Given the description of an element on the screen output the (x, y) to click on. 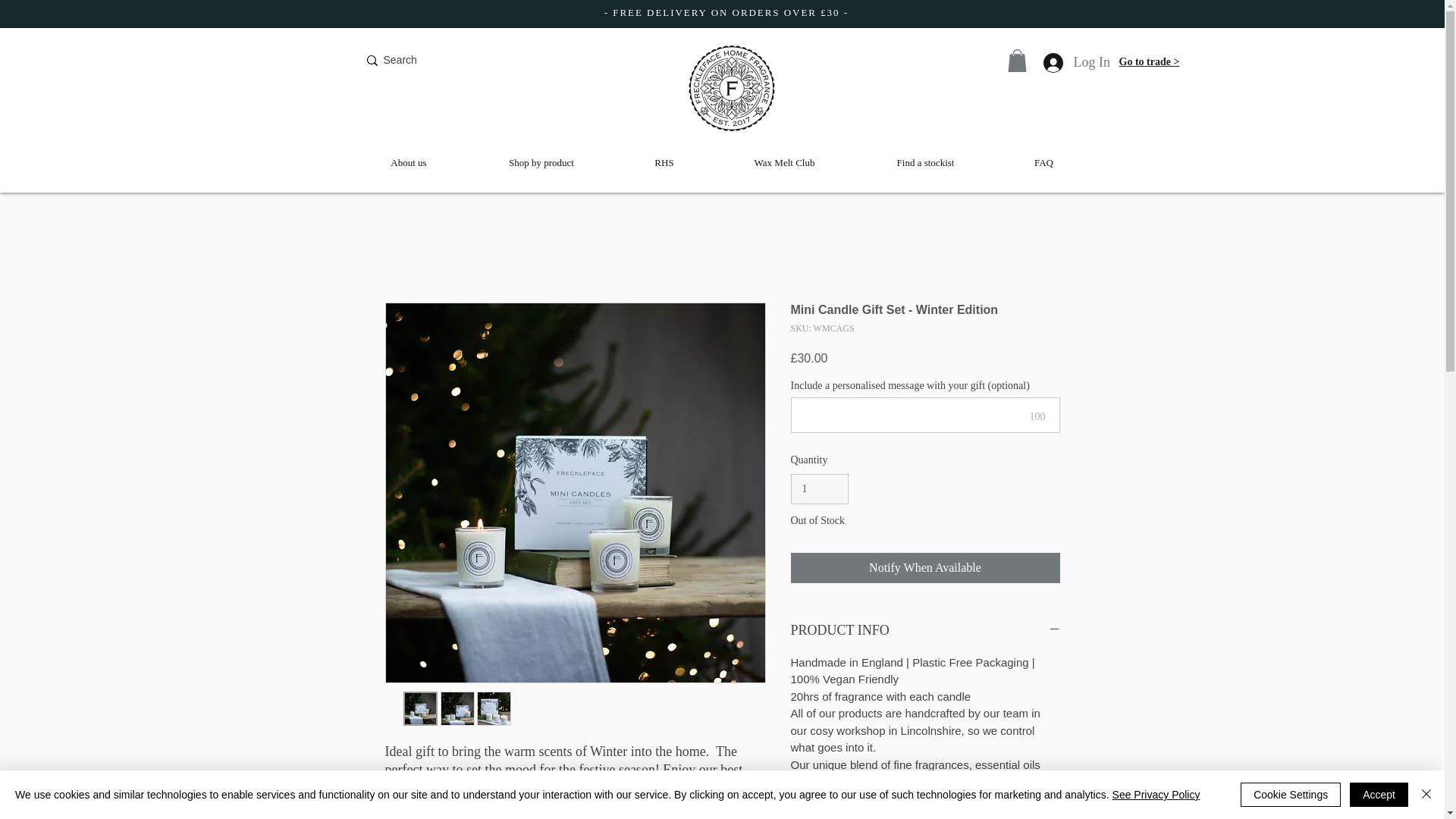
Log In (1062, 61)
About us (408, 162)
Find a stockist (925, 162)
Shop by product (540, 162)
PRODUCT INFO (924, 630)
1 (818, 489)
RHS (664, 162)
FAQ (1043, 162)
Wax Melt Club (784, 162)
Notify When Available (924, 567)
